Given the description of an element on the screen output the (x, y) to click on. 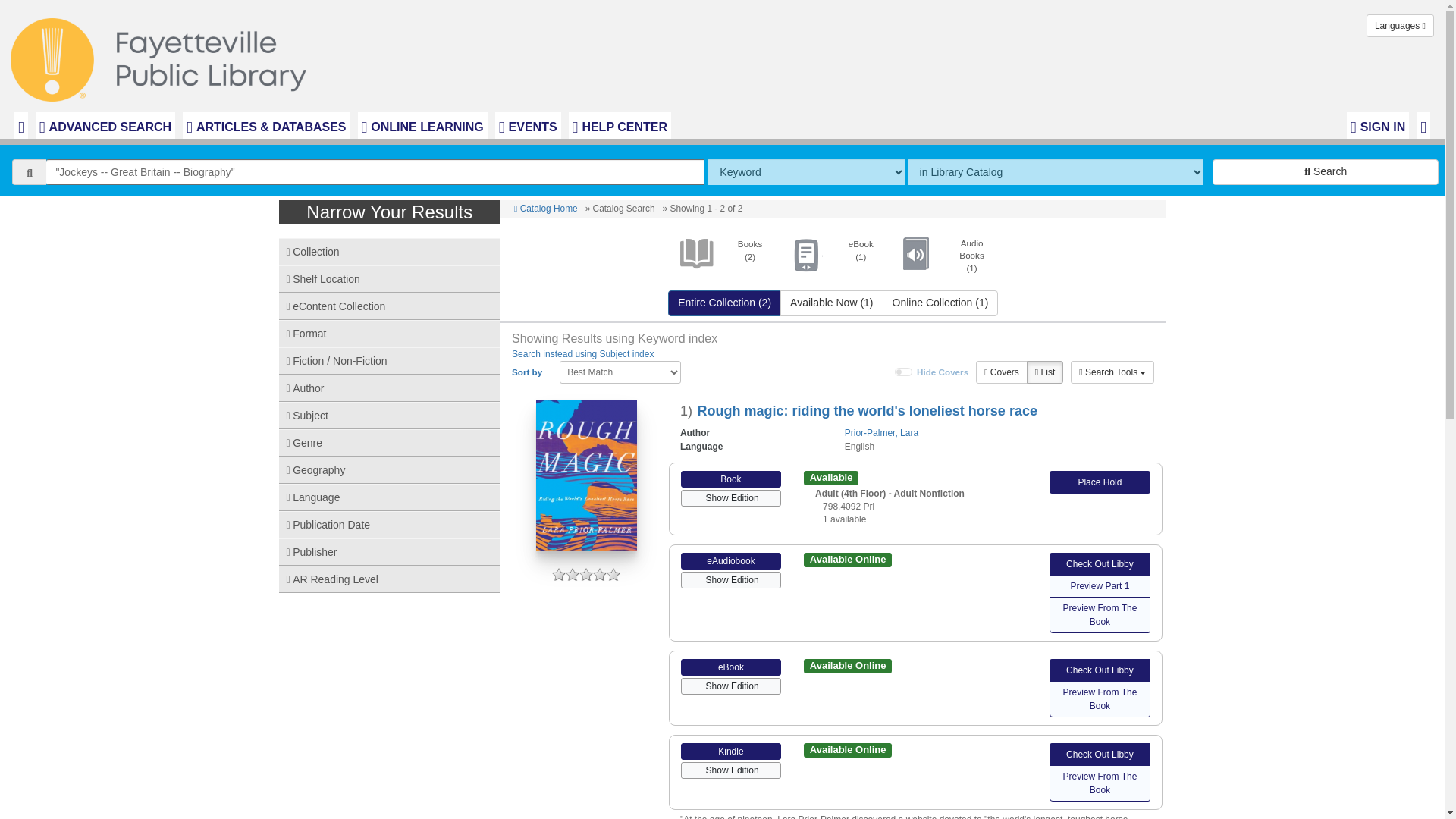
HELP CENTER (620, 125)
EVENTS (527, 125)
Library Home Page (162, 55)
The method of searching. (805, 171)
 Search (1325, 171)
on (903, 371)
Languages  (1400, 25)
"Jockeys -- Great Britain -- Biography" (375, 171)
Login (1377, 125)
